Given the description of an element on the screen output the (x, y) to click on. 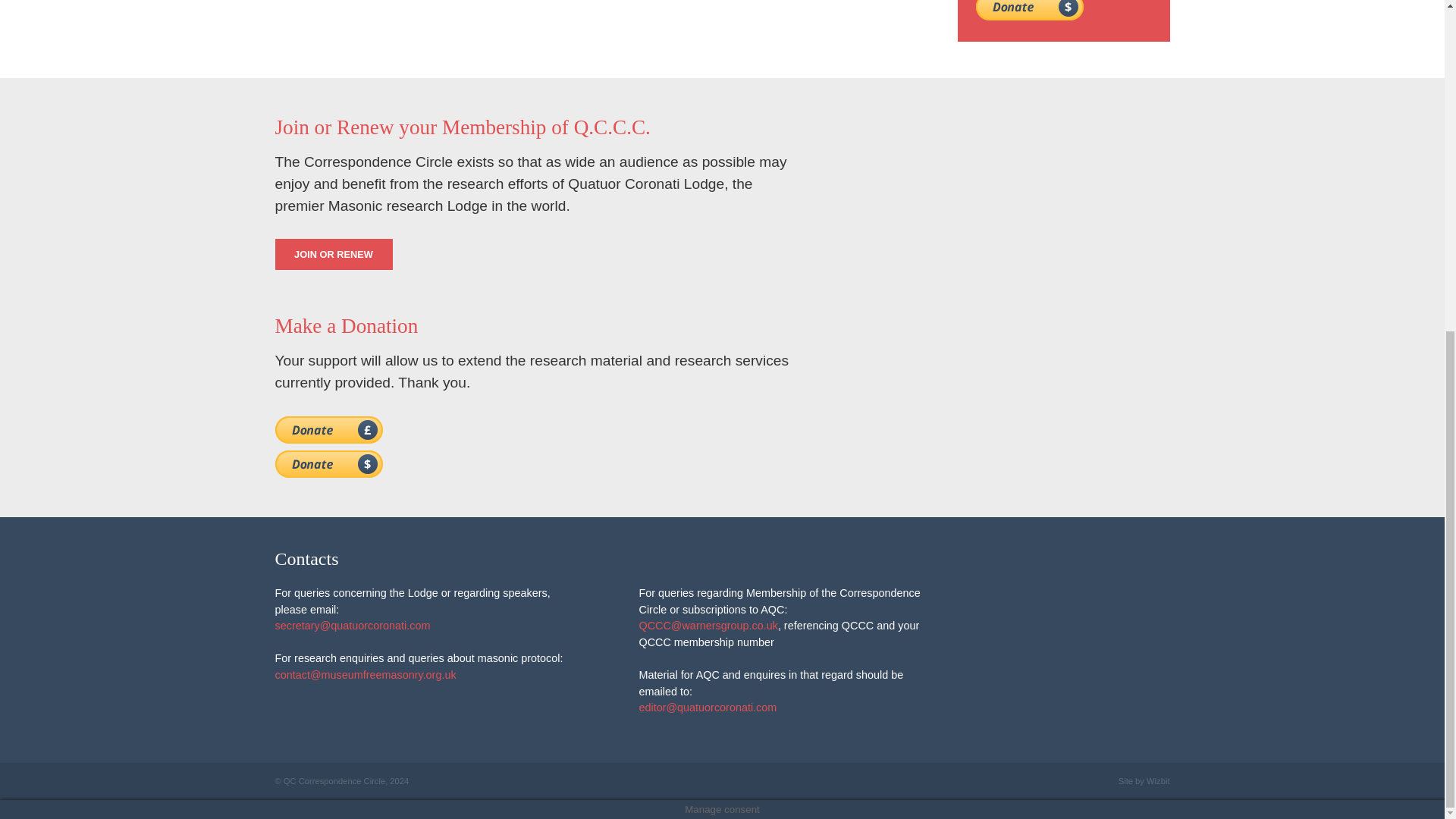
PayPal - The safer, easier way to pay online! (328, 429)
PayPal - The safer, easier way to pay online! (1029, 10)
PayPal - The safer, easier way to pay online! (328, 463)
